Given the description of an element on the screen output the (x, y) to click on. 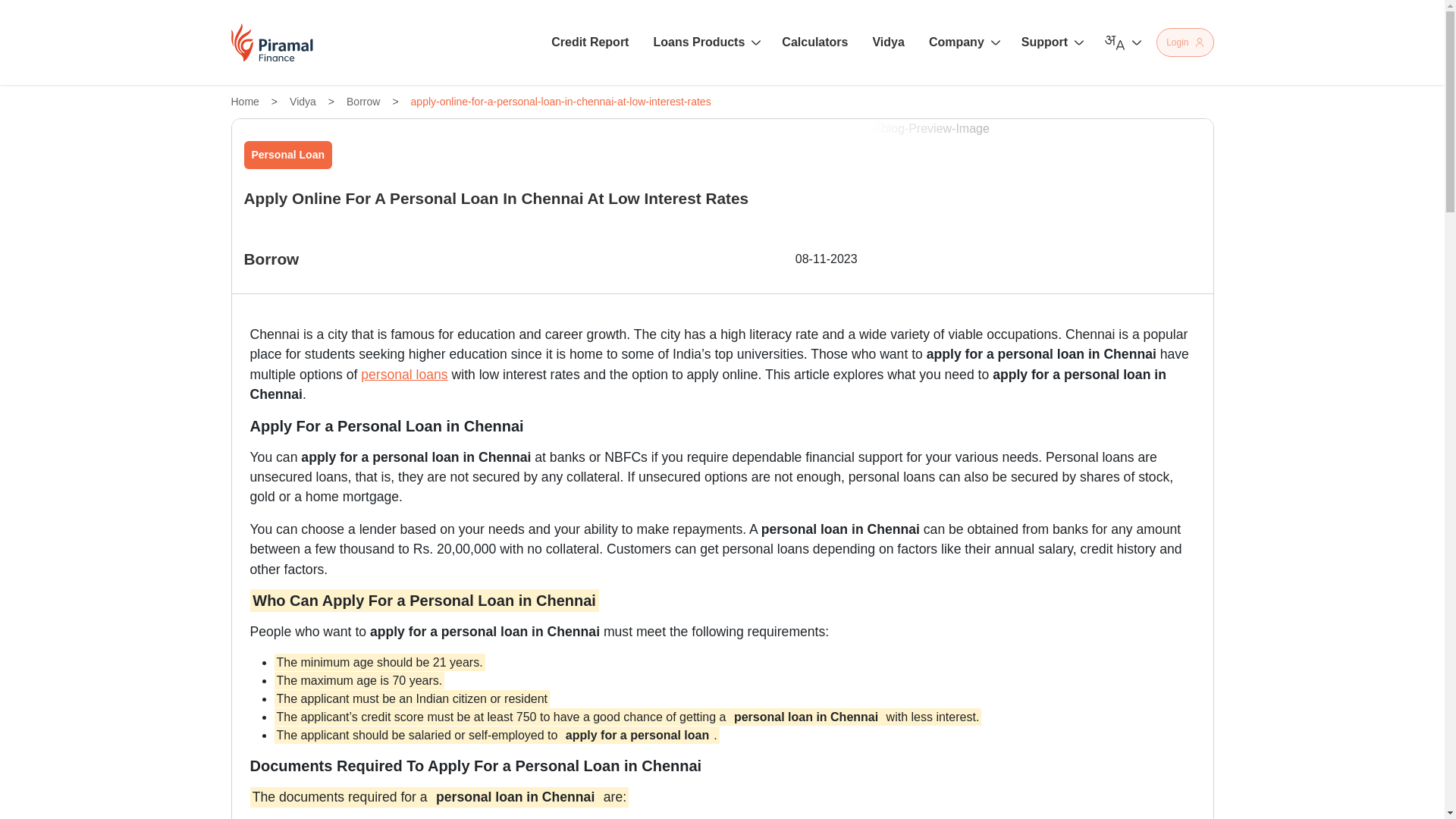
Company (963, 42)
Credit Report (589, 42)
Calculators (814, 42)
Support (1050, 42)
Vidya (888, 42)
Loans Products (704, 42)
